Given the description of an element on the screen output the (x, y) to click on. 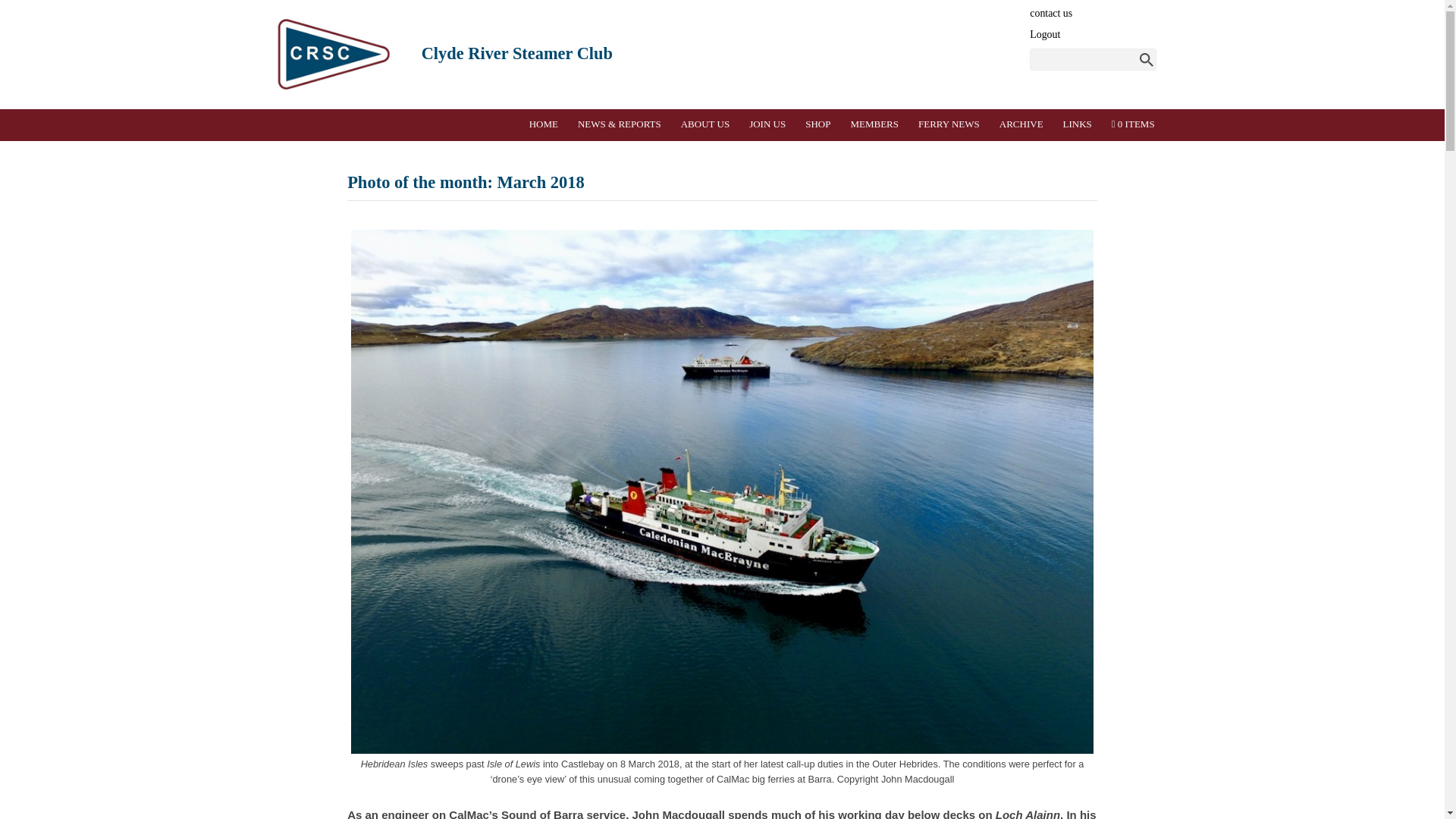
MEMBERS (874, 124)
ARCHIVE (1021, 124)
SHOP (817, 124)
LINKS (1077, 124)
FERRY NEWS (949, 124)
Start shopping (1132, 124)
HOME (543, 124)
ABOUT US (704, 124)
JOIN US (767, 124)
0 ITEMS (1132, 124)
